Given the description of an element on the screen output the (x, y) to click on. 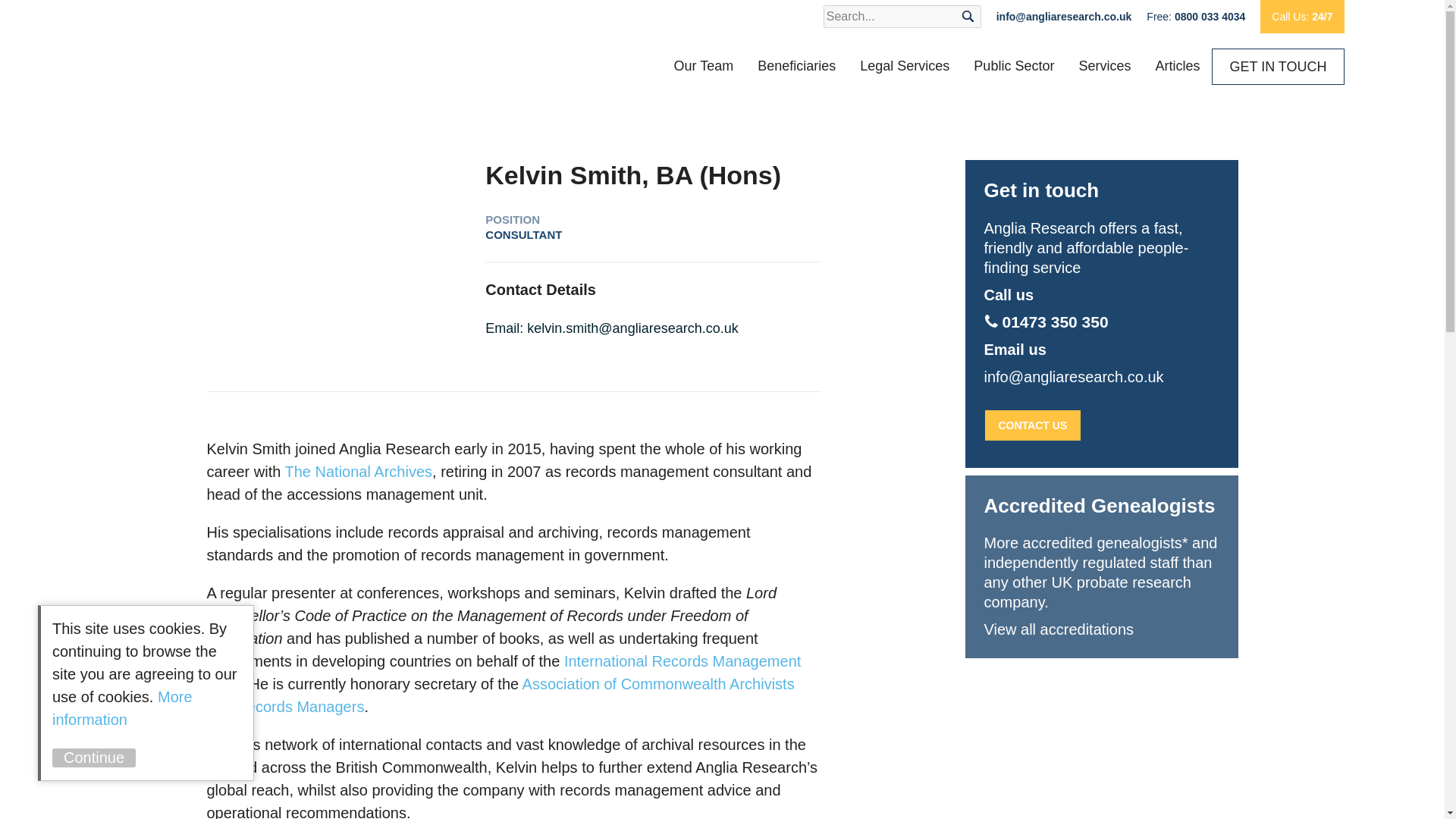
Our Team (703, 65)
Services (1103, 65)
Anglia Research Services (237, 49)
Legal Services (903, 65)
Public Sector (1012, 65)
Beneficiaries (796, 65)
Free: 0800 033 4034 (1195, 15)
